Given the description of an element on the screen output the (x, y) to click on. 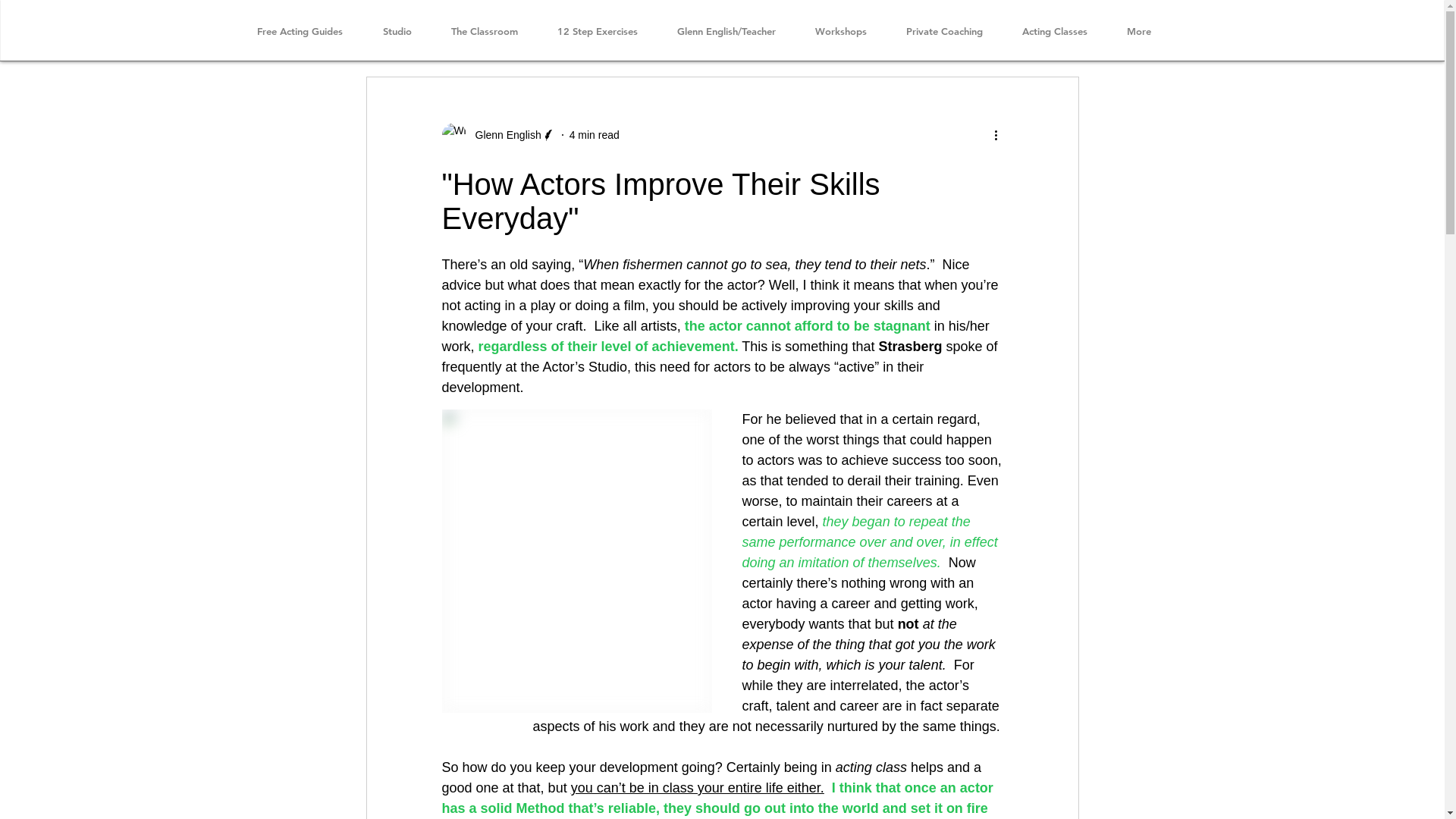
Acting Classes Element type: text (1054, 30)
12 Step Exercises Element type: text (596, 30)
Workshops Element type: text (839, 30)
The Classroom Element type: text (483, 30)
Free Acting Guides Element type: text (299, 30)
Glenn English/Teacher Element type: text (725, 30)
Studio Element type: text (396, 30)
Private Coaching Element type: text (943, 30)
